Given the description of an element on the screen output the (x, y) to click on. 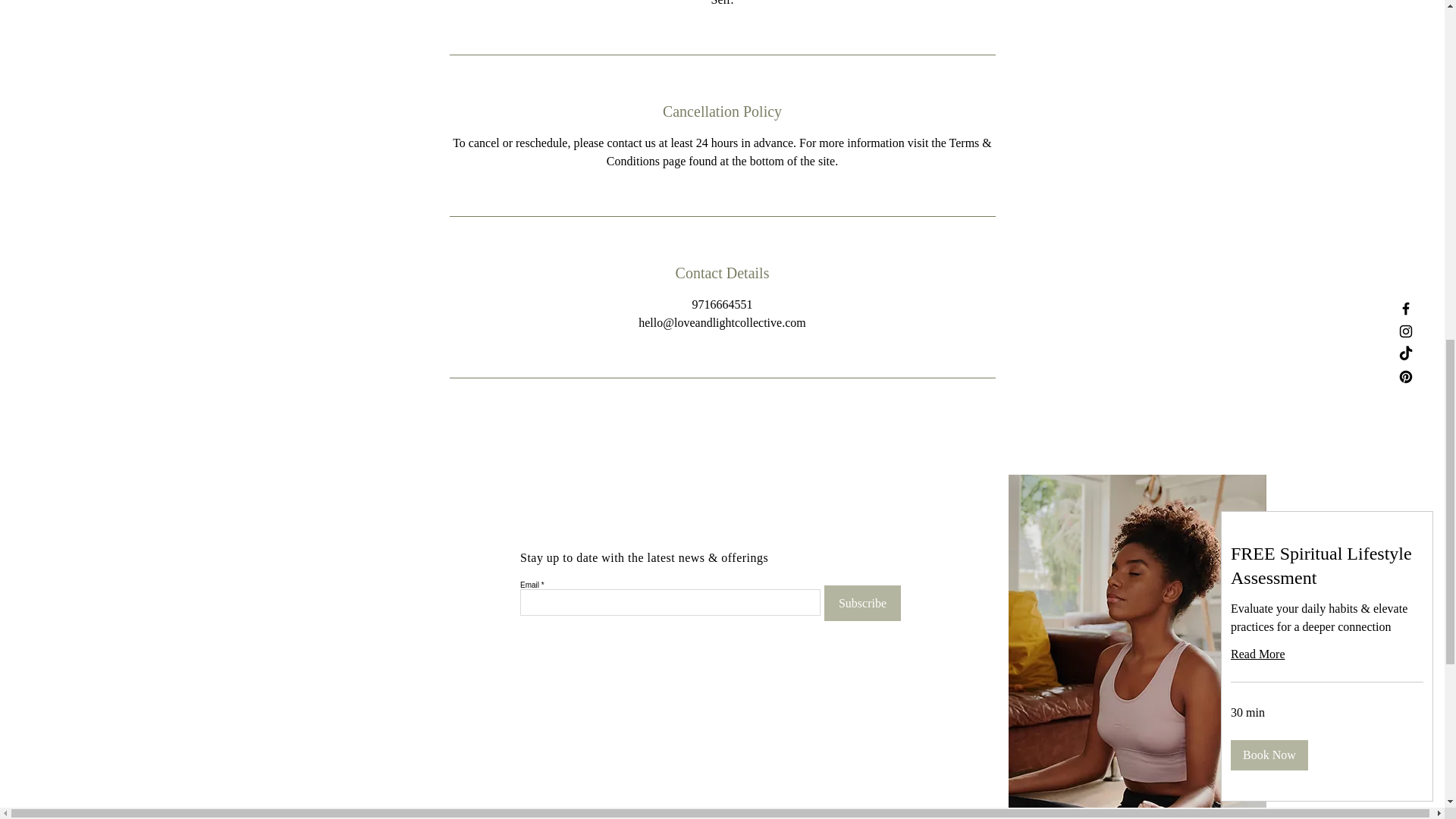
THE AWAKENED DIVINE QUEENS (544, 814)
Subscribe (862, 602)
WORK WITH ME (502, 790)
Read More (1326, 654)
Book Now (1268, 755)
FREE Spiritual Lifestyle Assessment (1326, 566)
HOME (477, 765)
